Given the description of an element on the screen output the (x, y) to click on. 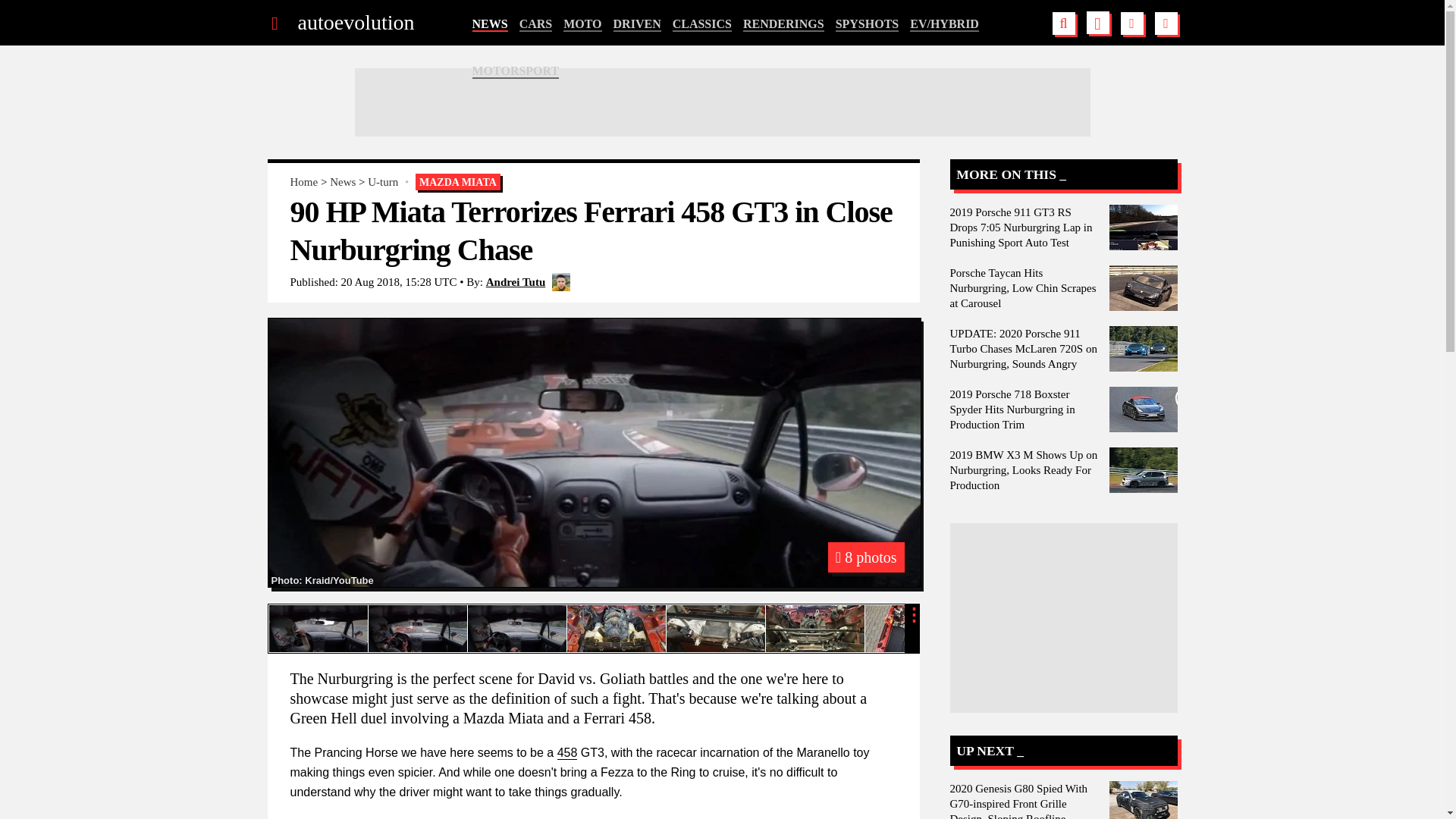
DRIVEN (636, 24)
CLASSICS (702, 24)
NEWS (488, 24)
MOTO (582, 24)
MOTORSPORT (515, 71)
RENDERINGS (783, 24)
U-turn (382, 182)
Home (303, 182)
News (342, 182)
autoevolution (355, 22)
CARS (536, 24)
autoevolution (355, 22)
SPYSHOTS (867, 24)
